Given the description of an element on the screen output the (x, y) to click on. 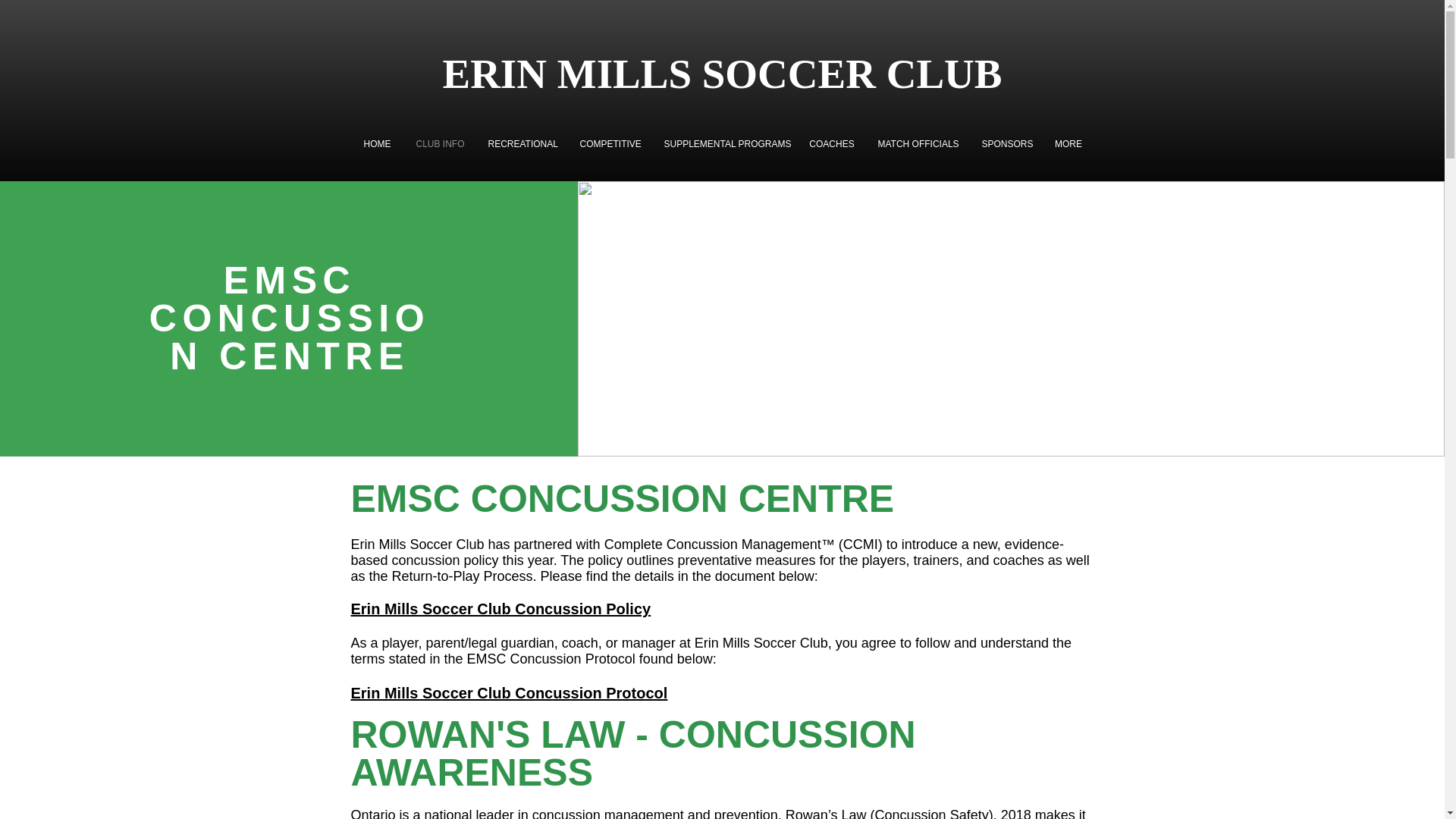
COMPETITIVE (610, 144)
CLUB INFO (439, 144)
RECREATIONAL (521, 144)
SUPPLEMENTAL PROGRAMS (724, 144)
